Given the description of an element on the screen output the (x, y) to click on. 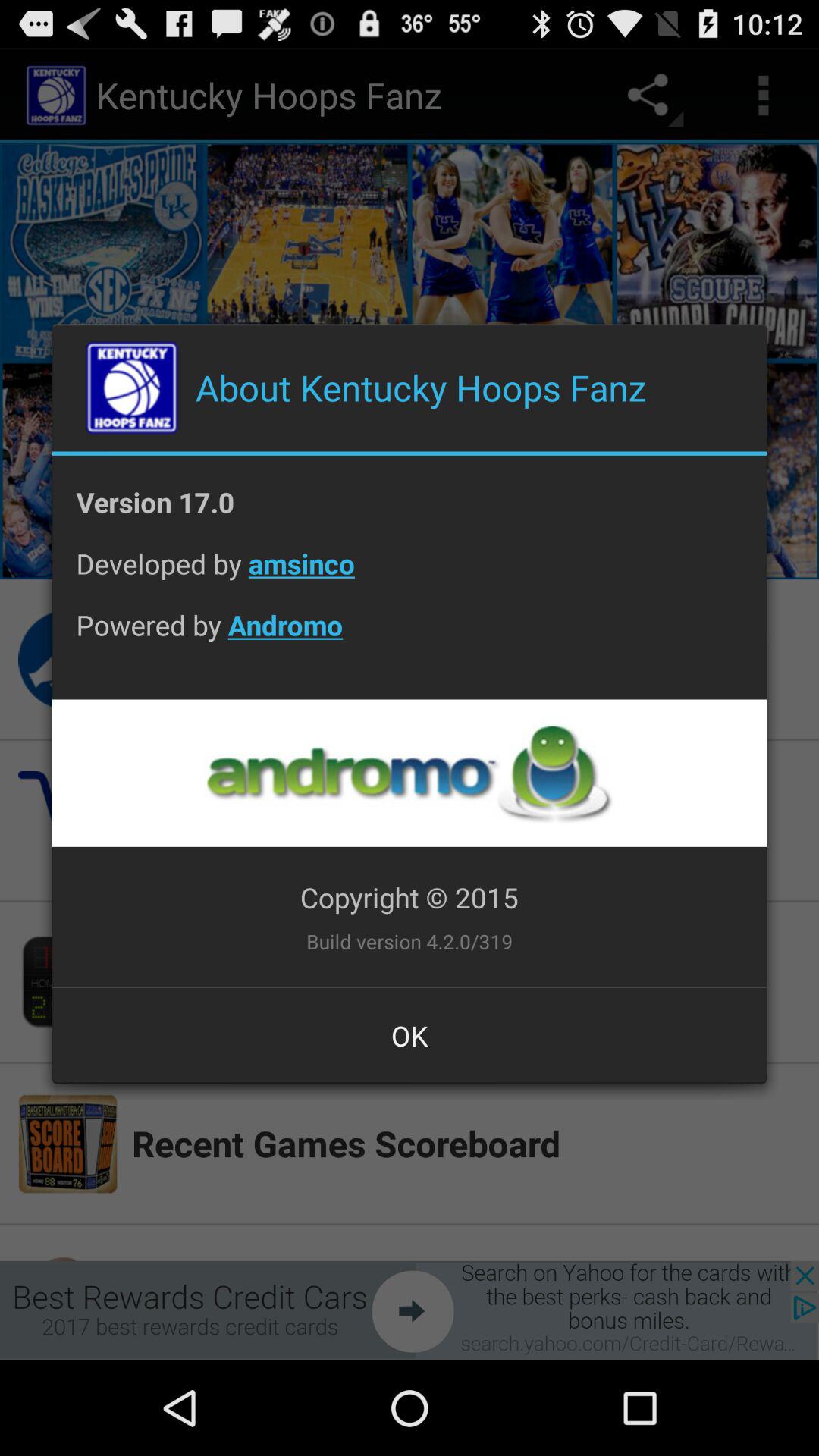
click the developed by amsinco icon (409, 575)
